Given the description of an element on the screen output the (x, y) to click on. 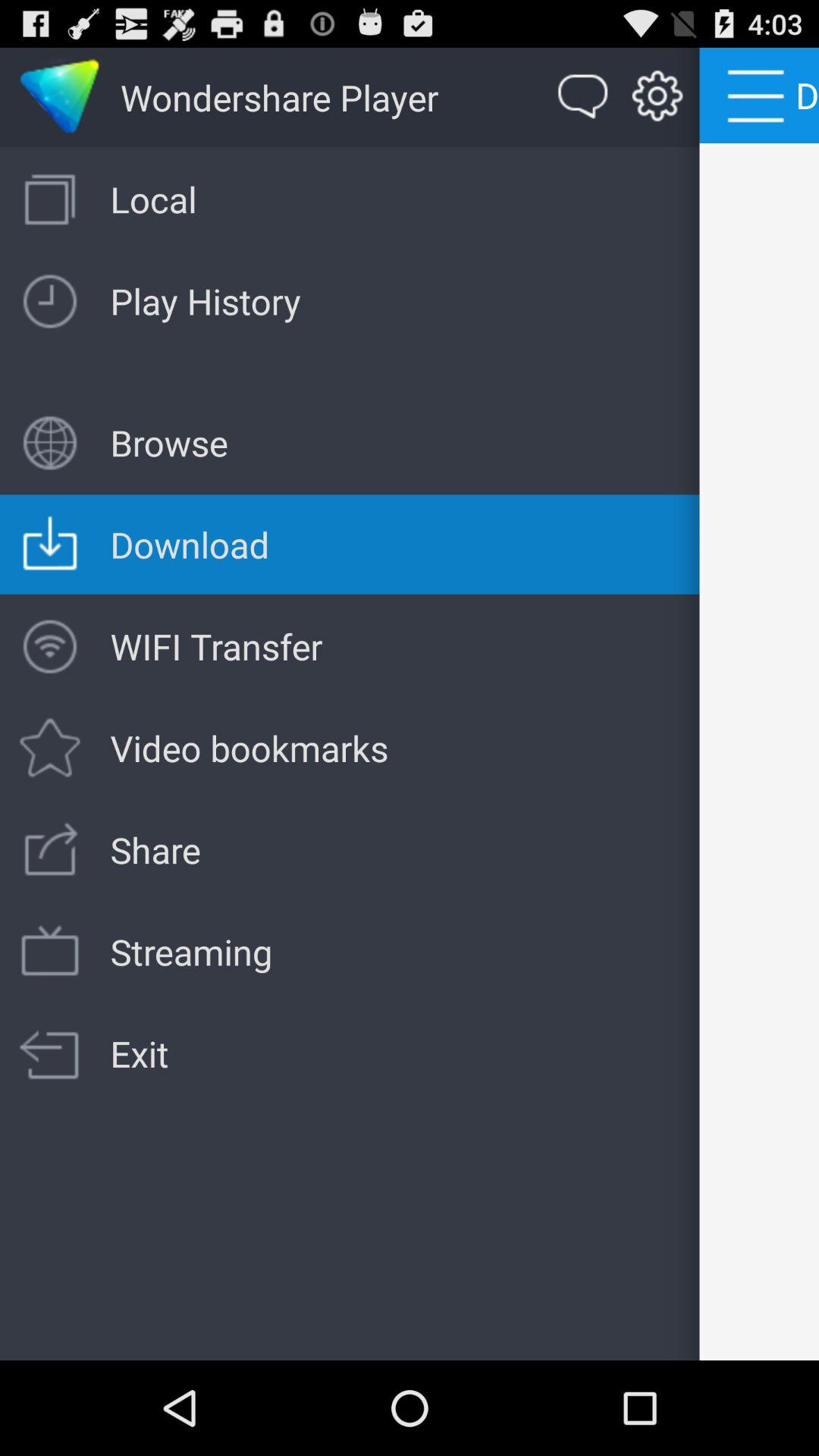
click on the second icon next to wondershare player (657, 97)
click on the download option (59, 98)
click on the more options icon (759, 95)
